Given the description of an element on the screen output the (x, y) to click on. 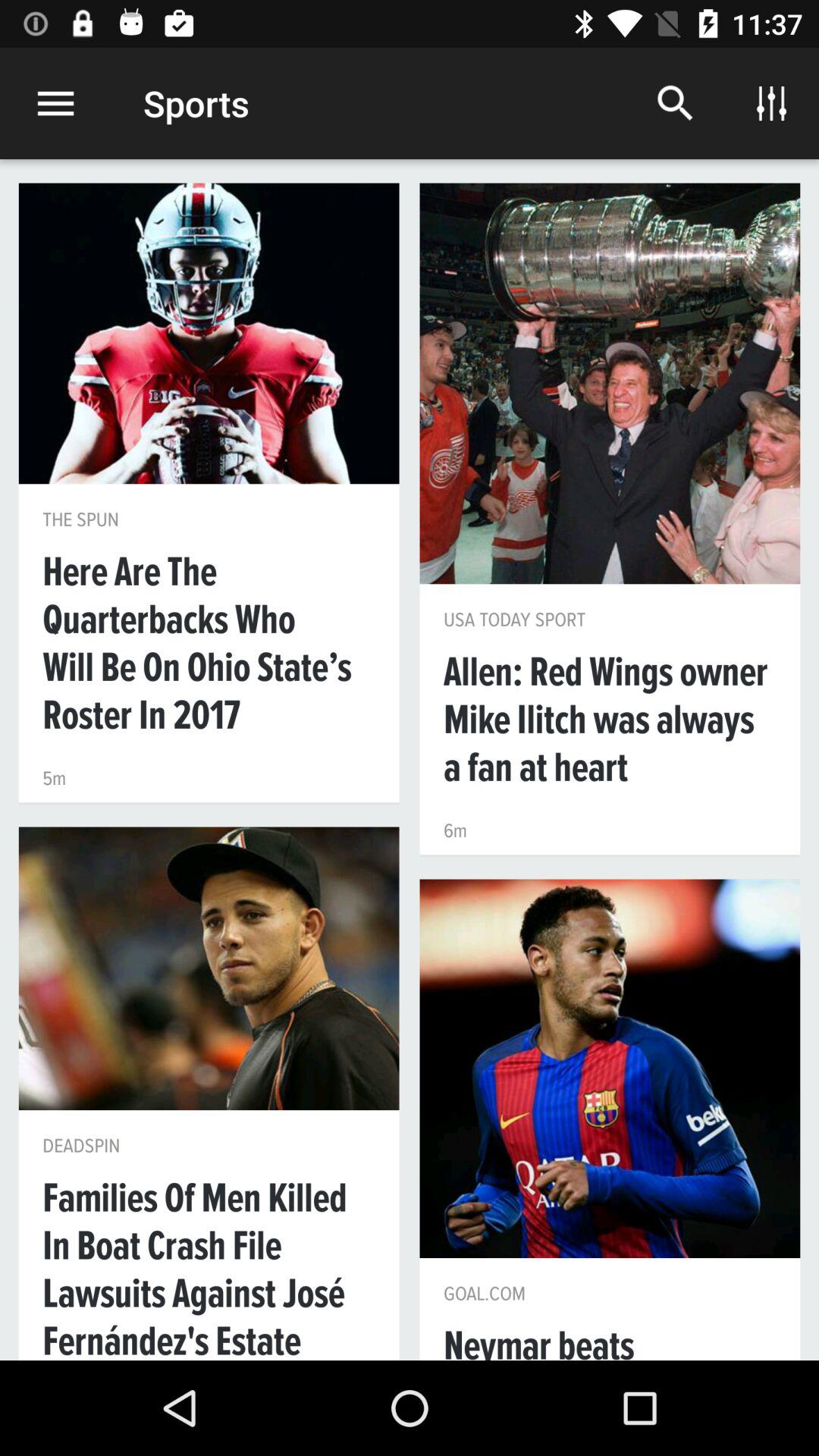
choose the icon next to the sports item (55, 103)
